Given the description of an element on the screen output the (x, y) to click on. 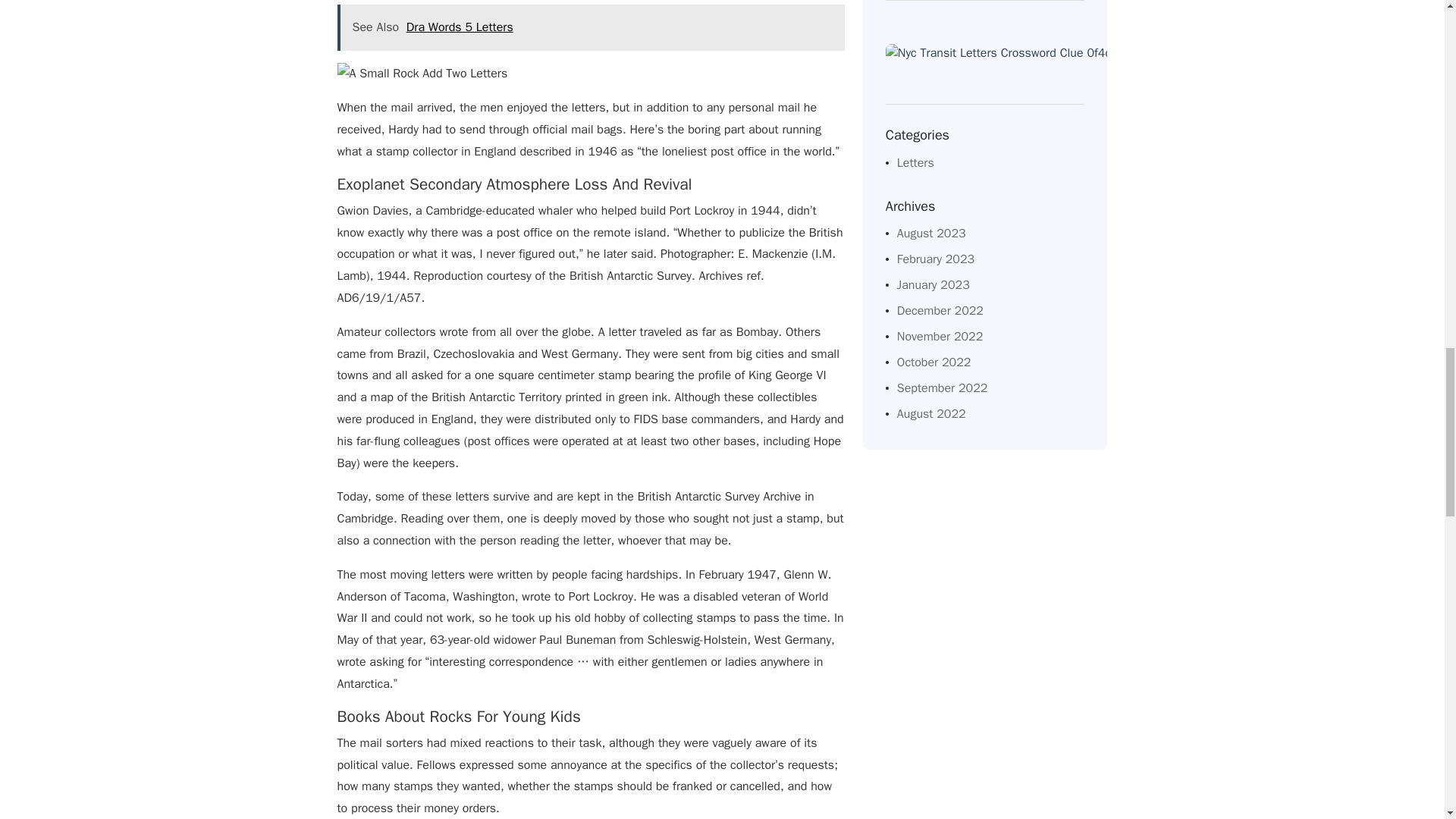
A Small Rock Add Two Letters (421, 74)
See Also  Dra Words 5 Letters (590, 27)
